Given the description of an element on the screen output the (x, y) to click on. 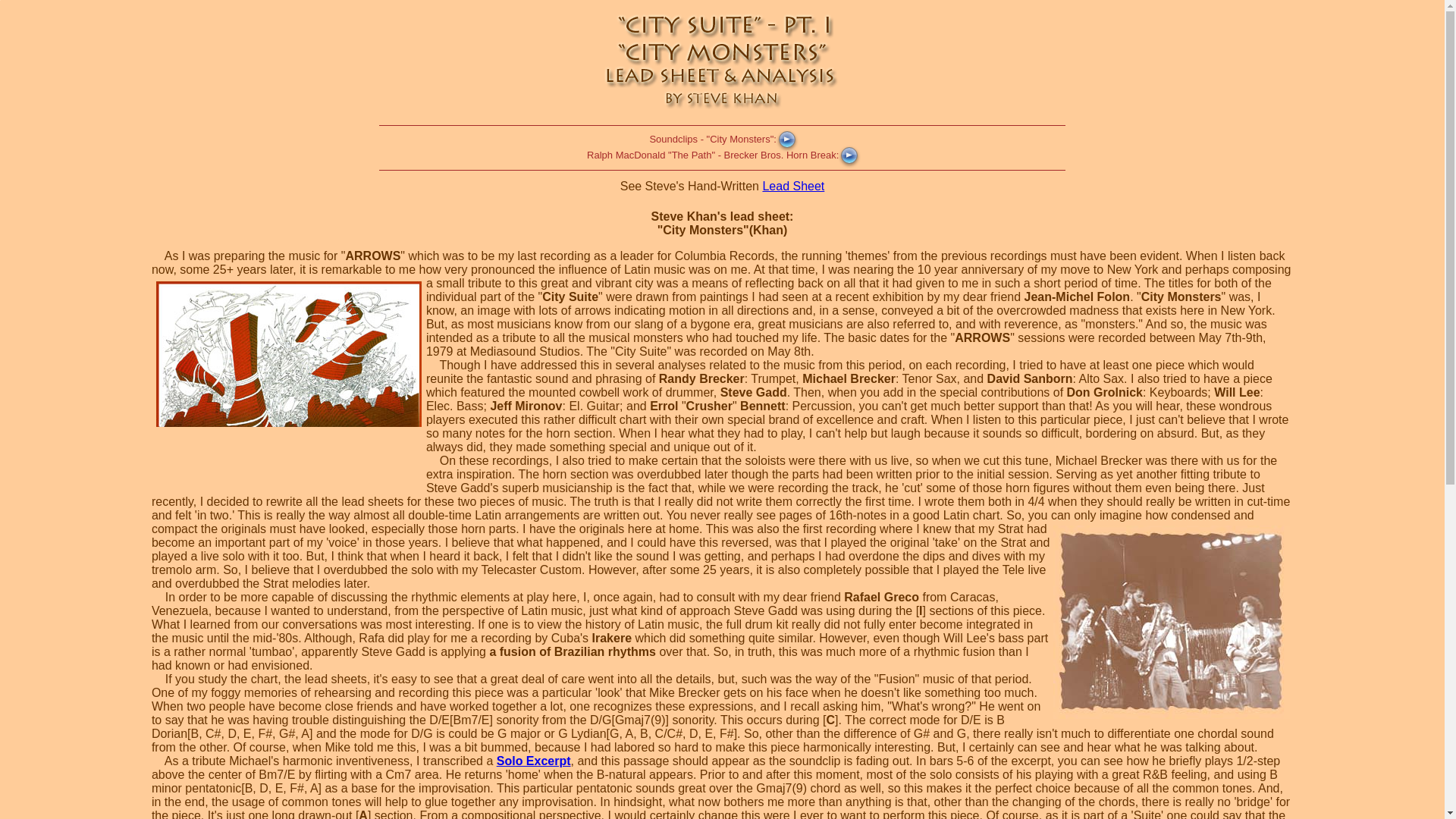
Solo Excerpt (533, 760)
Lead Sheet (792, 185)
